Given the description of an element on the screen output the (x, y) to click on. 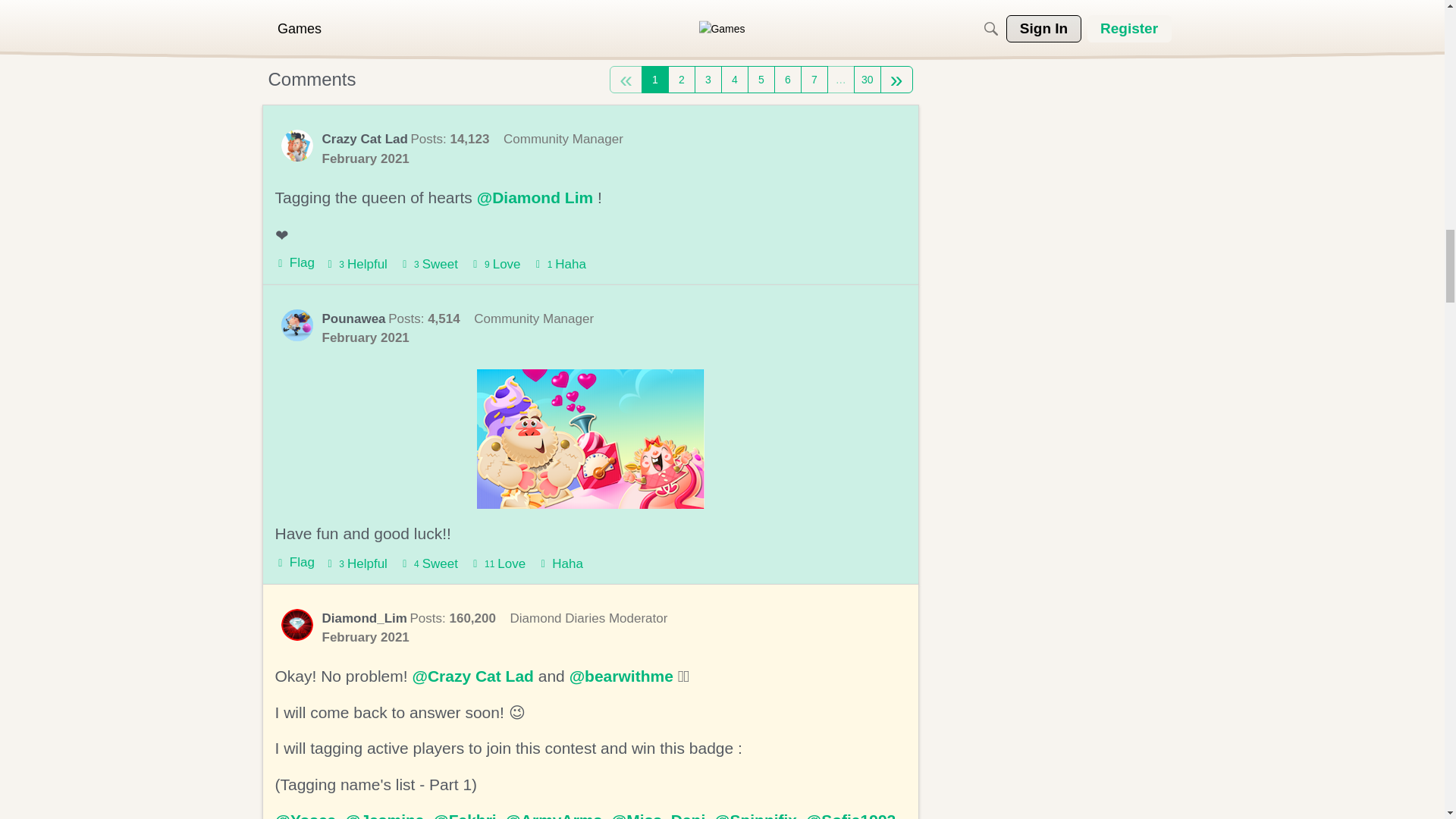
February 5, 2021 9:28AM (365, 158)
Crazy Cat Lad (297, 145)
Helpful (355, 264)
Sign In (480, 40)
Flag (294, 263)
Join the King Community (632, 40)
Administrator (563, 139)
Next Page (896, 79)
